Given the description of an element on the screen output the (x, y) to click on. 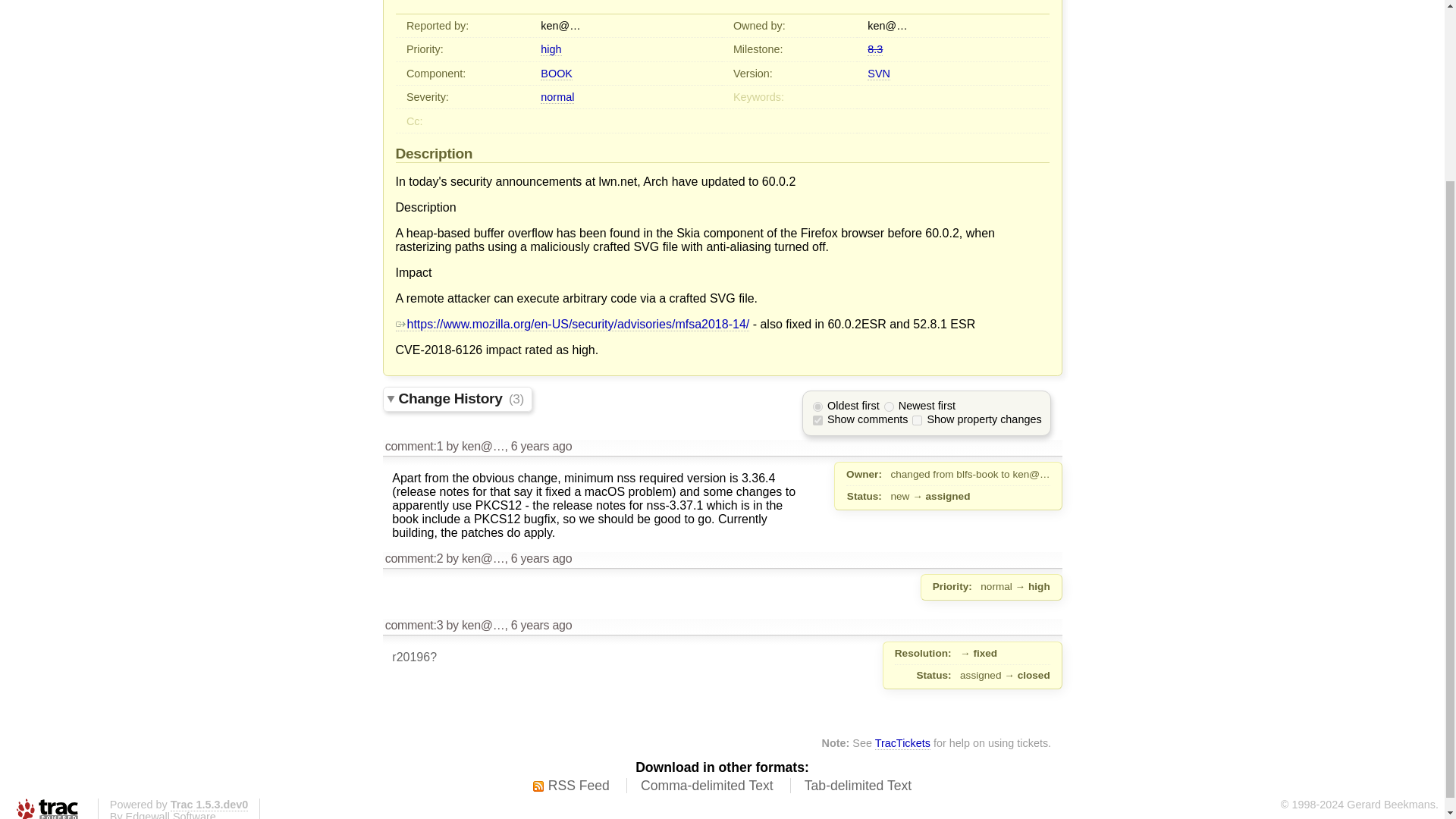
6 years ago (541, 625)
SVN (878, 73)
oldest (817, 406)
high (550, 49)
comment:2 (414, 558)
TracTickets (902, 743)
No changeset 20196 in the repository (413, 656)
r20196 (413, 656)
comment:1 (414, 445)
BOOK (556, 73)
comment:3 (414, 625)
8.3 (874, 49)
6 years ago (541, 445)
RSS Feed (571, 786)
6 years ago (541, 558)
